Given the description of an element on the screen output the (x, y) to click on. 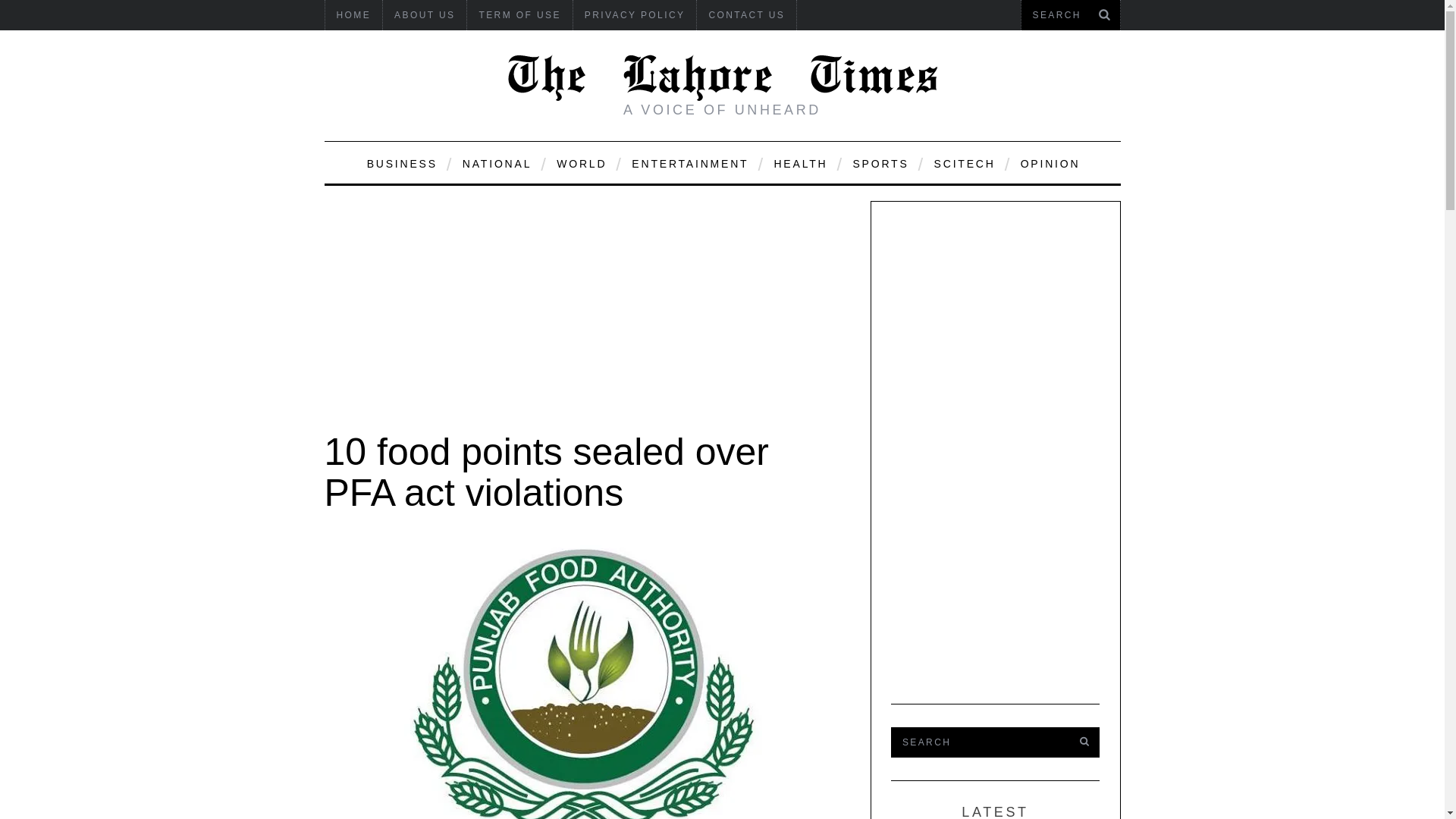
Advertisement (585, 306)
PRIVACY POLICY (635, 14)
BUSINESS (400, 162)
ABOUT US (423, 14)
HEALTH (798, 162)
Search (1070, 15)
SPORTS (879, 162)
HOME (352, 14)
NATIONAL (495, 162)
WORLD (579, 162)
SCITECH (963, 162)
Search (976, 742)
ENTERTAINMENT (688, 162)
TERM OF USE (519, 14)
CONTACT US (746, 14)
